Given the description of an element on the screen output the (x, y) to click on. 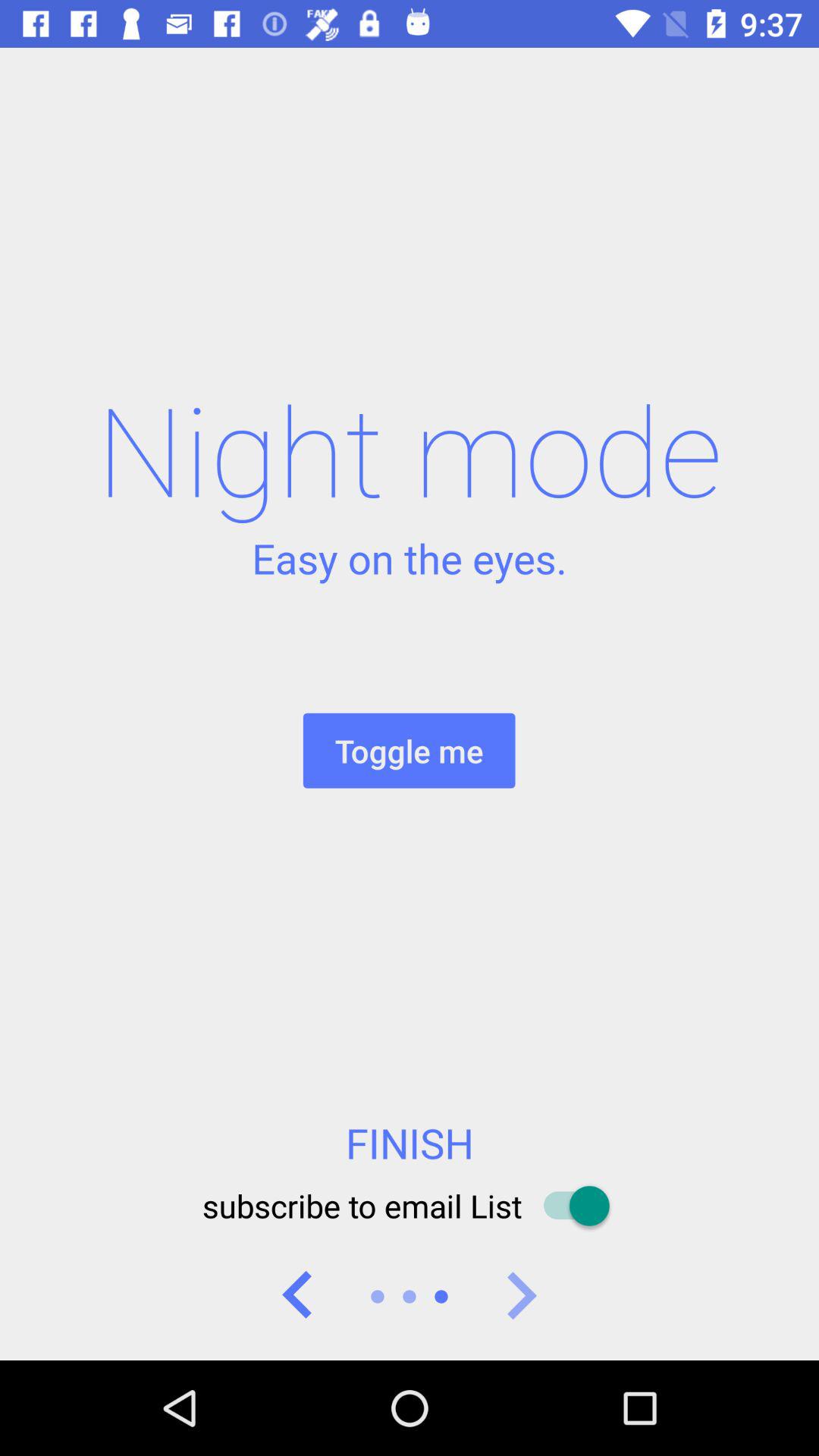
go forward (520, 1296)
